Given the description of an element on the screen output the (x, y) to click on. 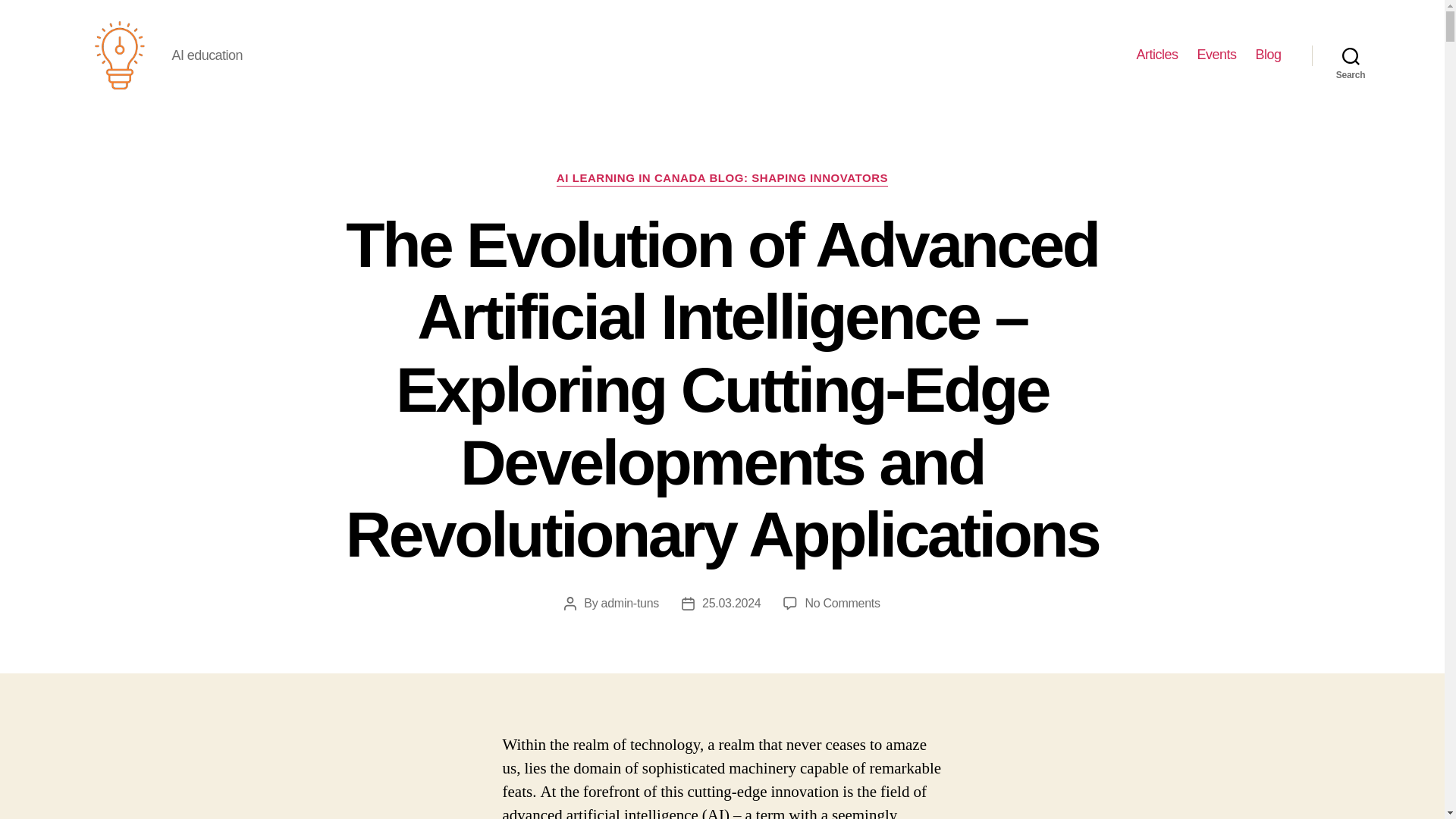
25.03.2024 (730, 603)
Events (1216, 54)
Articles (1156, 54)
AI LEARNING IN CANADA BLOG: SHAPING INNOVATORS (722, 178)
Search (1350, 55)
admin-tuns (630, 603)
Blog (1268, 54)
